Given the description of an element on the screen output the (x, y) to click on. 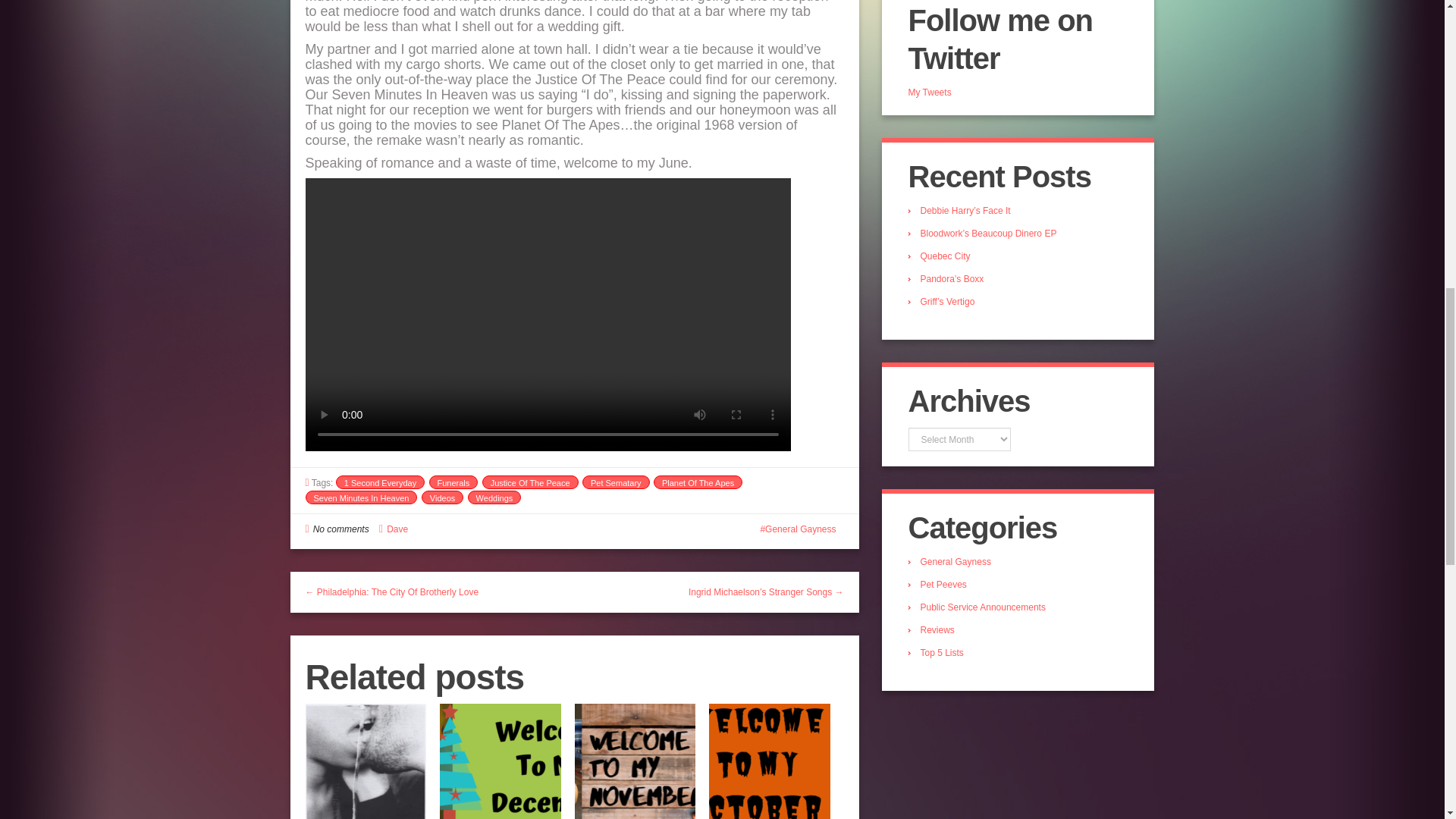
Pet Sematary (615, 481)
Justice Of The Peace (529, 481)
Weddings (494, 497)
No comments (341, 529)
Halloween (769, 761)
General Gayness (797, 529)
My Tweets (930, 91)
Videos (442, 497)
Planet Of The Apes (697, 481)
Quebec City (945, 255)
